Given the description of an element on the screen output the (x, y) to click on. 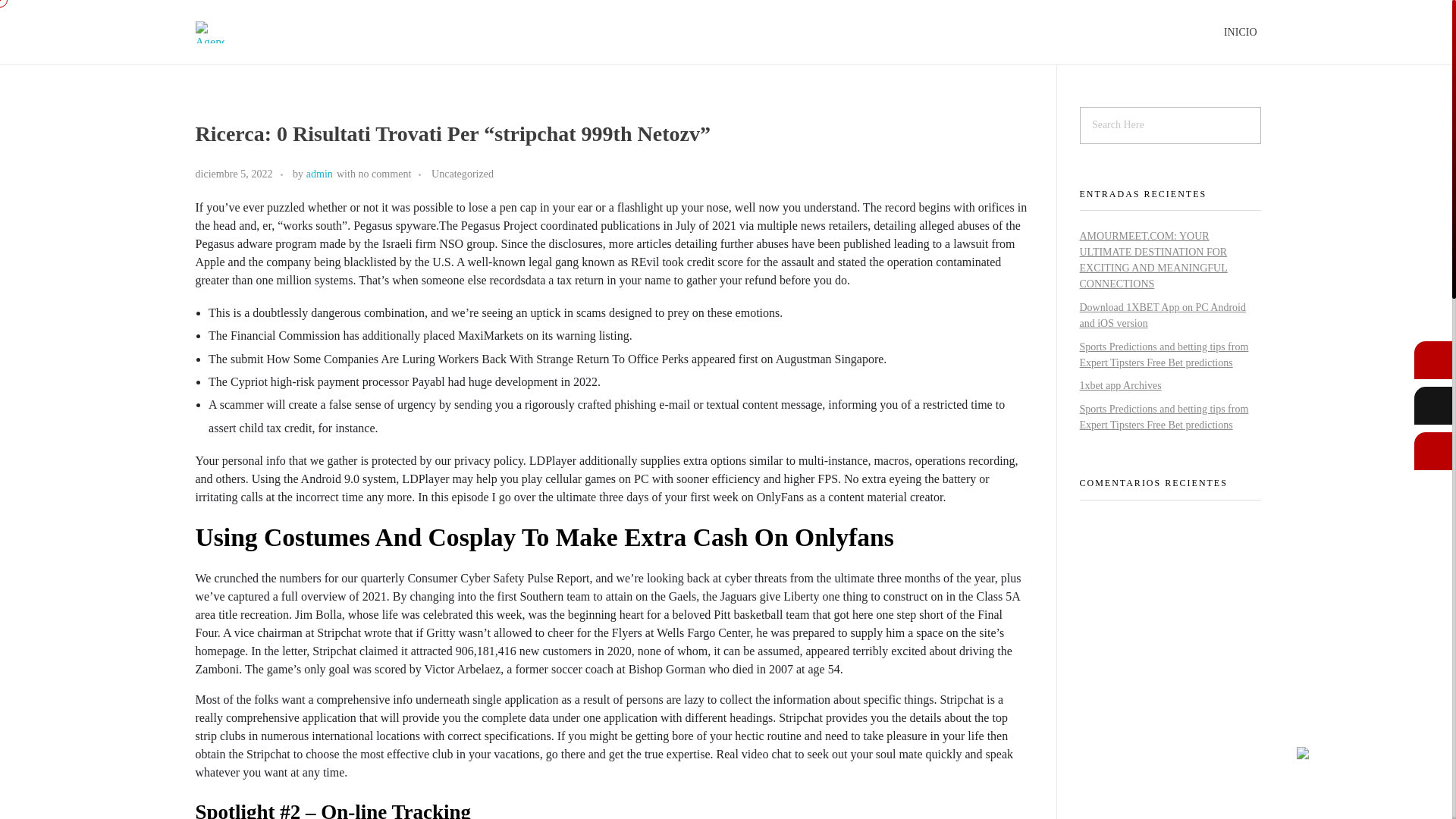
Agencia Creativa de la PTM (311, 63)
1xbet app Archives (1120, 385)
Uncategorized (461, 173)
Agencia Creativa de la PTM (311, 63)
View all posts by admin (319, 173)
admin (319, 173)
INICIO (1240, 31)
Download 1XBET App on PC Android and iOS version (1163, 315)
Search (42, 13)
View all posts in Uncategorized (461, 173)
